Given the description of an element on the screen output the (x, y) to click on. 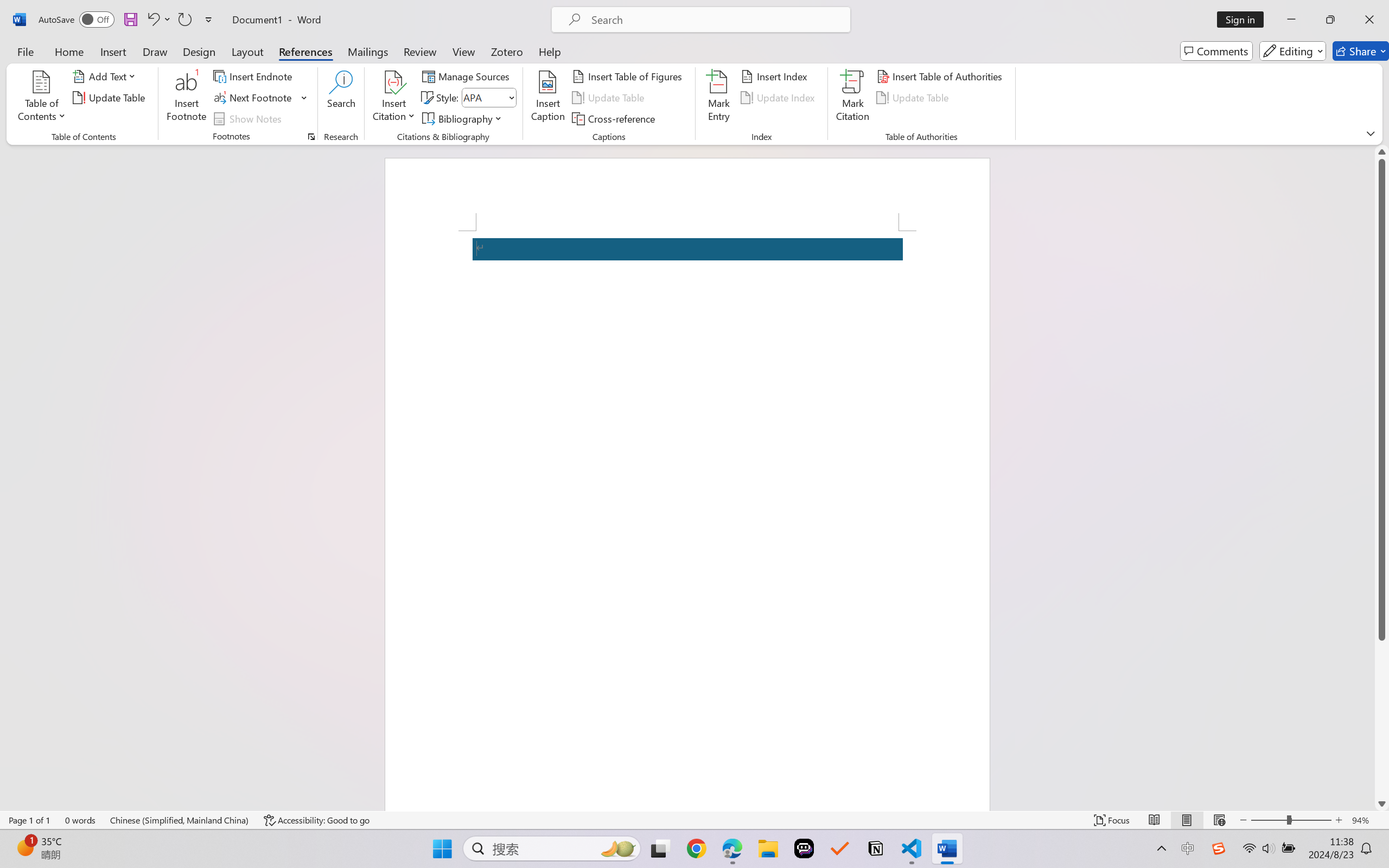
Table of Contents (42, 97)
Footnote and Endnote Dialog... (311, 136)
Line up (1382, 151)
Mark Citation... (852, 97)
Language Chinese (Simplified, Mainland China) (179, 819)
Cross-reference... (615, 118)
